Given the description of an element on the screen output the (x, y) to click on. 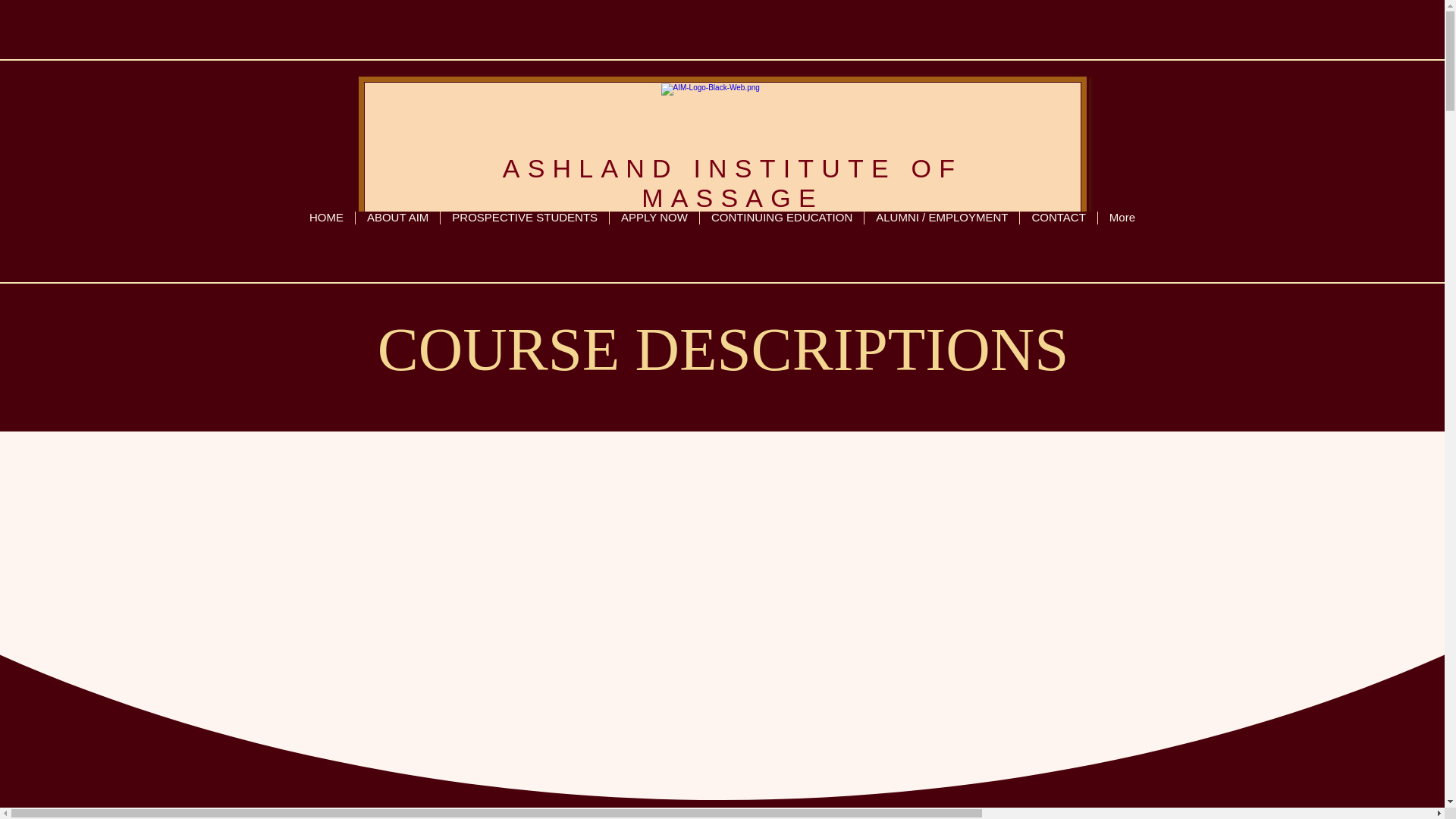
HOME (326, 238)
PROSPECTIVE STUDENTS (523, 238)
APPLY NOW (653, 238)
ABOUT AIM (397, 238)
CONTINUING EDUCATION (780, 238)
CONTACT (1057, 238)
